Given the description of an element on the screen output the (x, y) to click on. 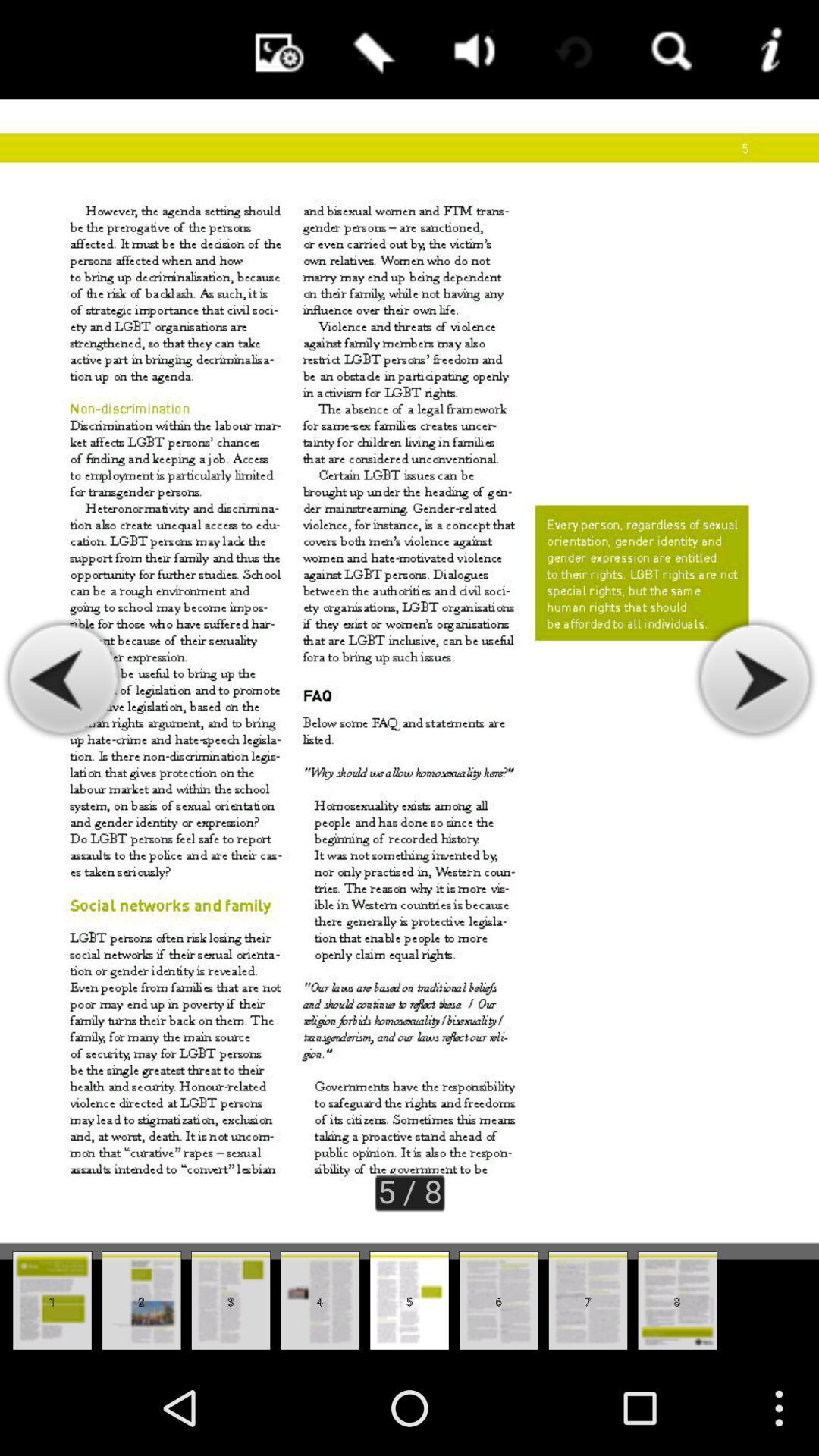
move page forward (754, 679)
